Given the description of an element on the screen output the (x, y) to click on. 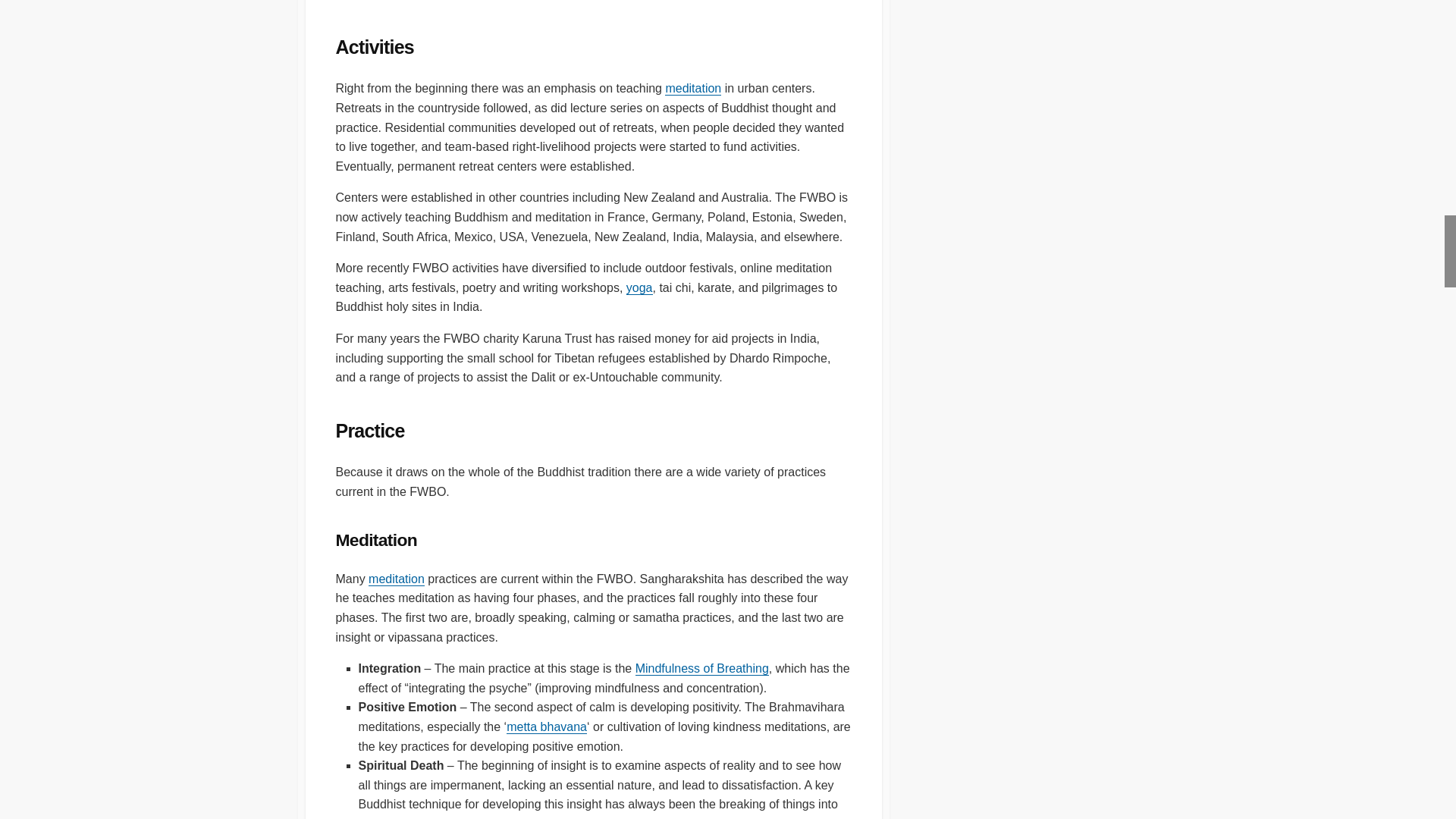
meditation (692, 88)
